Given the description of an element on the screen output the (x, y) to click on. 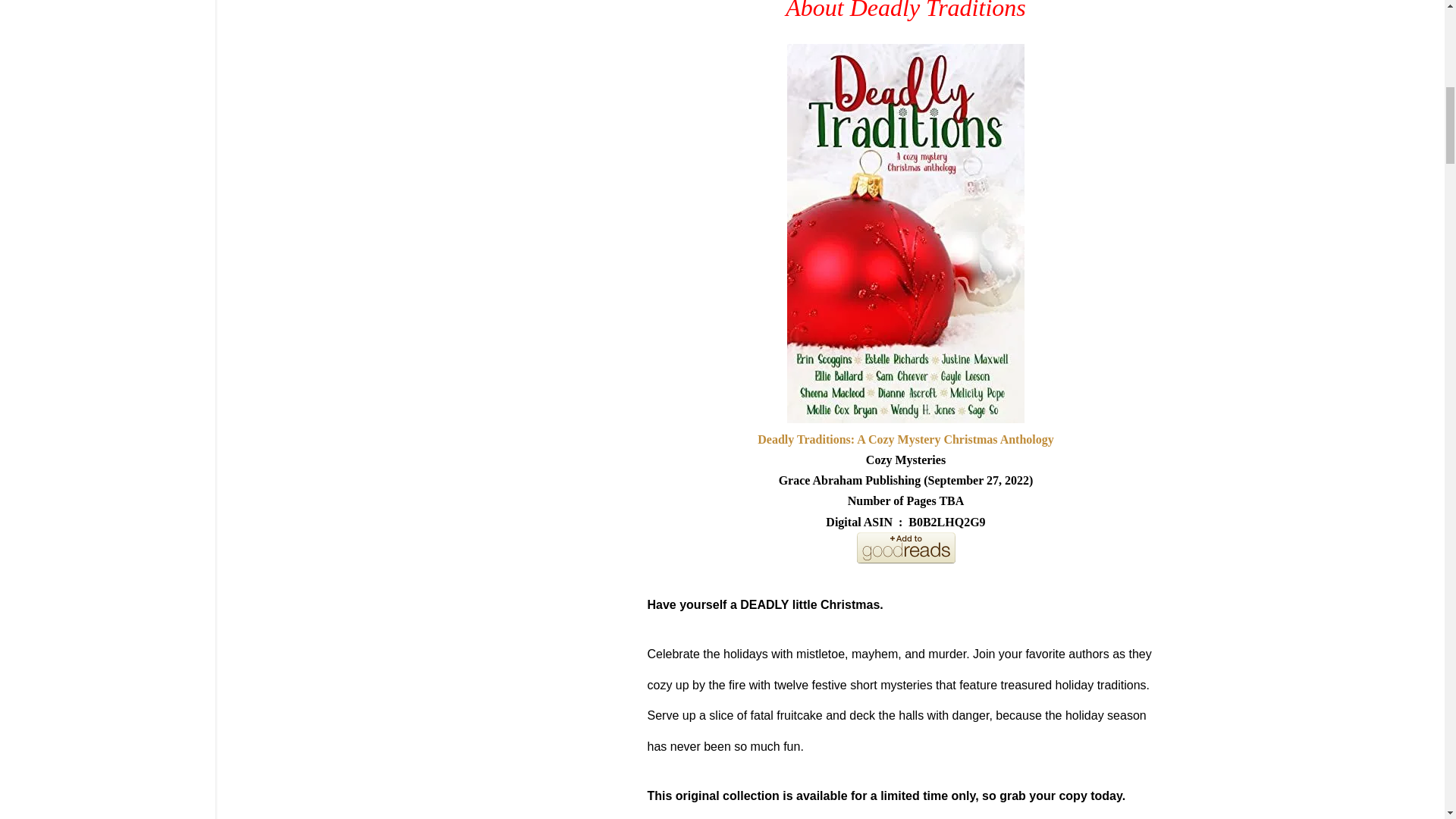
Deadly Traditions: A Cozy Mystery Christmas Anthology (905, 439)
